Given the description of an element on the screen output the (x, y) to click on. 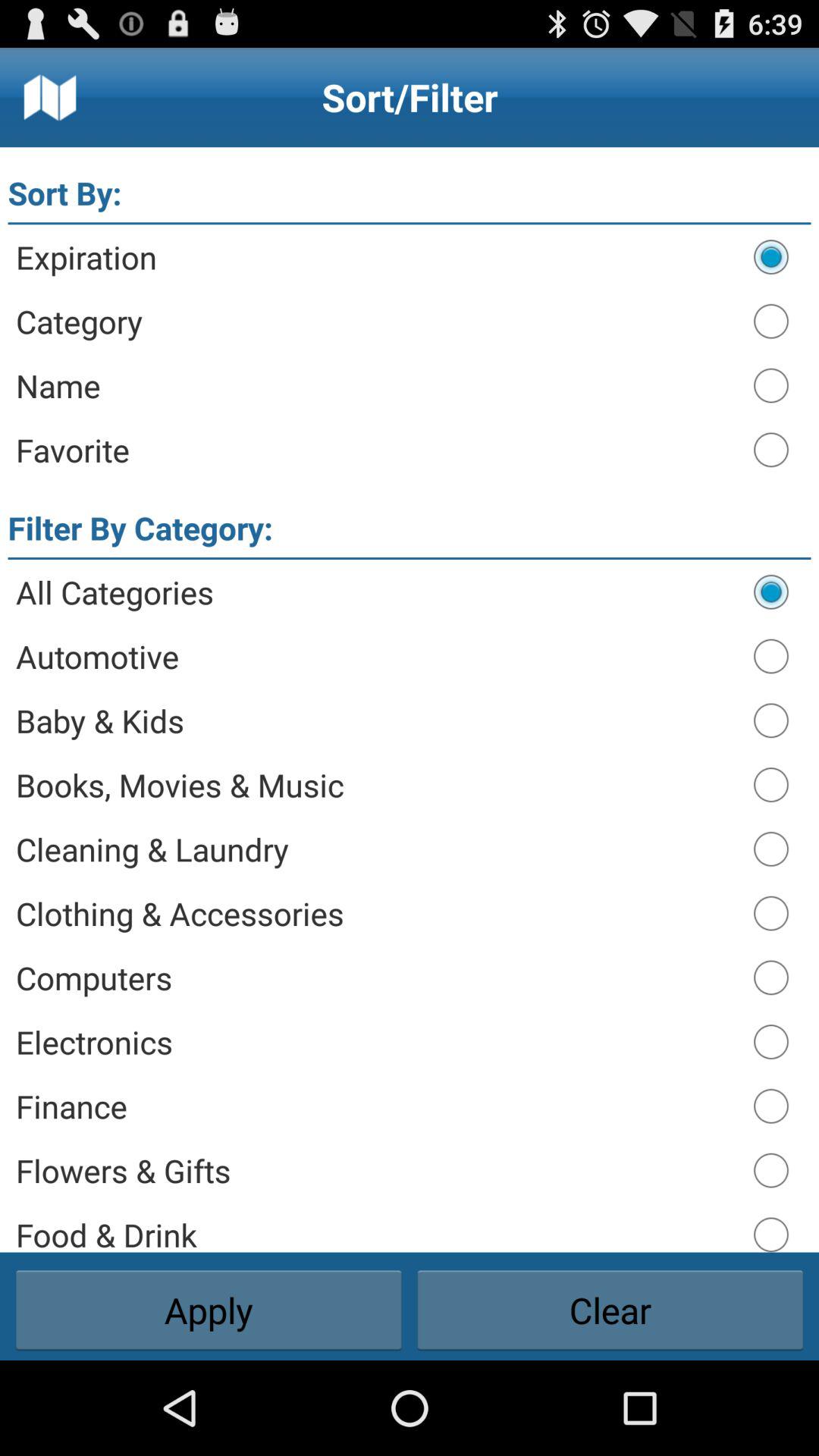
swipe to the finance item (377, 1106)
